Given the description of an element on the screen output the (x, y) to click on. 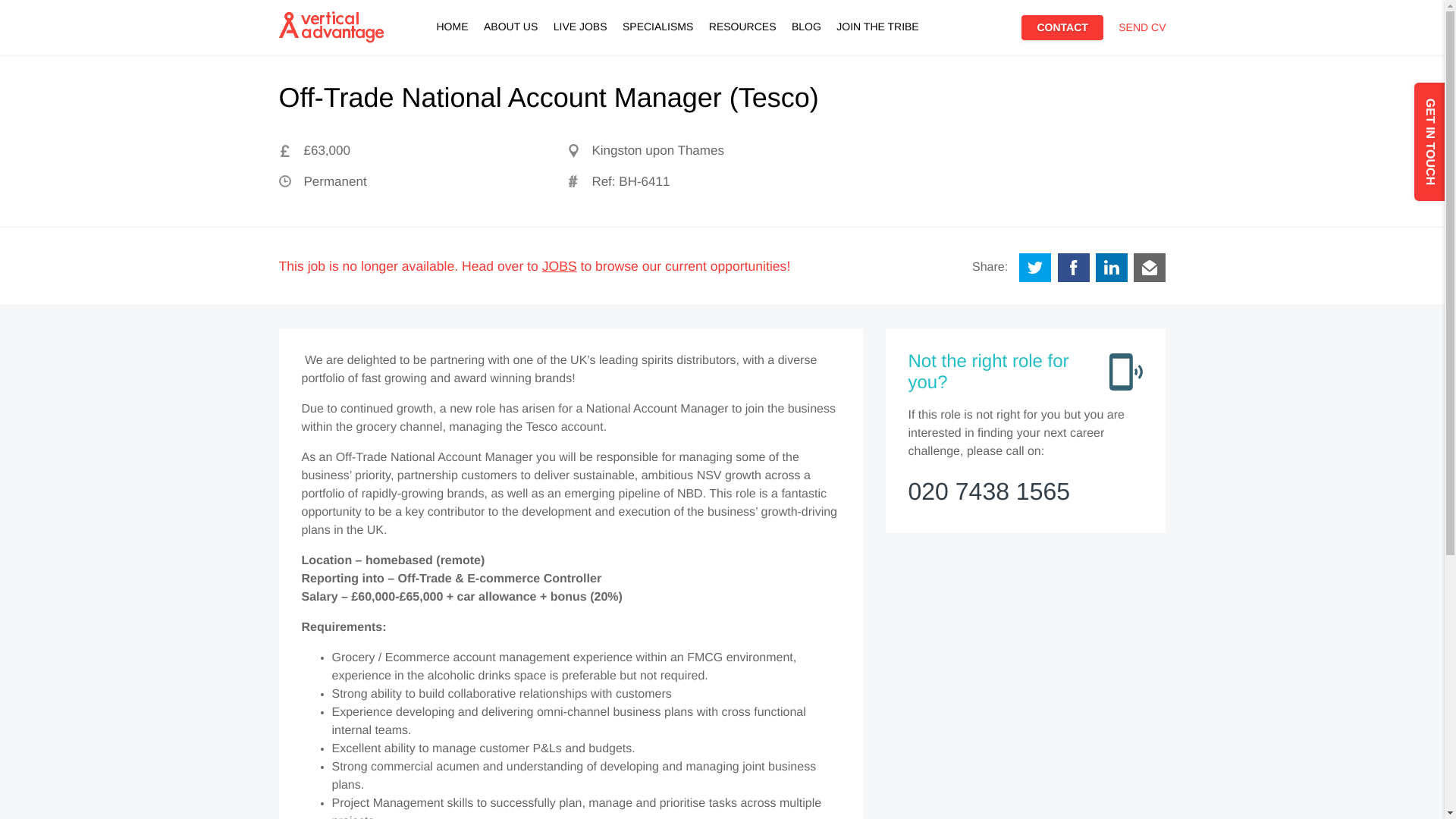
RESOURCES (742, 36)
Share on Facebook (1073, 267)
JOIN THE TRIBE (876, 36)
Share on LinkedIn (1111, 267)
LIVE JOBS (580, 36)
SEND CV (1142, 36)
Share on Twitter (1035, 267)
CONTACT (1062, 27)
Vertical Advantage (331, 27)
JOBS (558, 265)
